Given the description of an element on the screen output the (x, y) to click on. 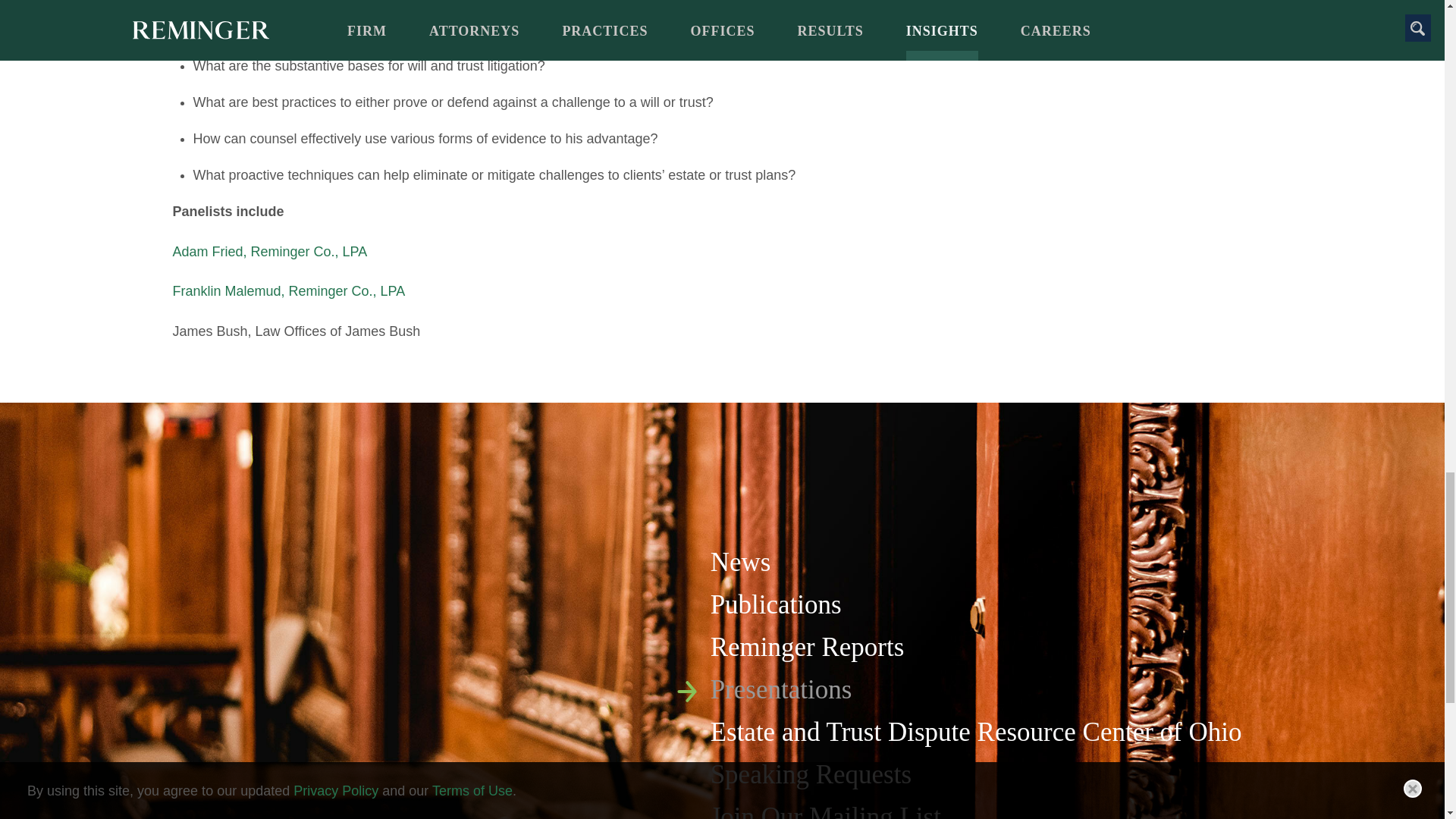
Adam Fried, Reminger Co., LPA (270, 251)
Franklin Malemud, Reminger Co., LPA (289, 290)
Reminger Reports (807, 646)
News (740, 562)
Presentations (780, 689)
Publications (775, 604)
Speaking Requests (810, 774)
Estate and Trust Dispute Resource Center of Ohio (975, 731)
Join Our Mailing List (825, 810)
